Given the description of an element on the screen output the (x, y) to click on. 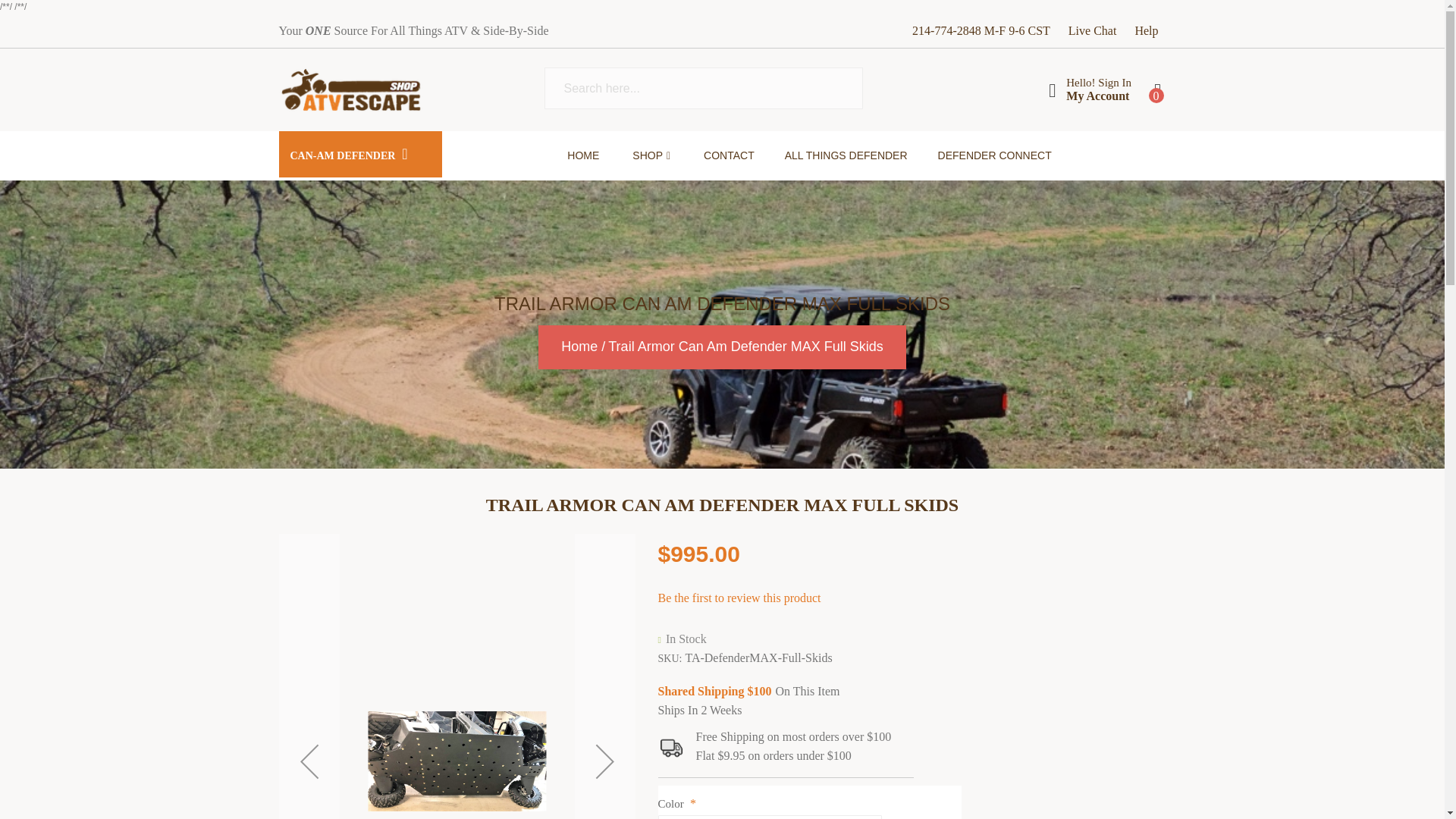
214-774-2848 M-F 9-6 CST (980, 30)
214-774-2848  M-F  9-6 CST (980, 30)
Help (1145, 30)
Help (1145, 30)
Live Chat (1092, 30)
Live Chat (1092, 30)
